Given the description of an element on the screen output the (x, y) to click on. 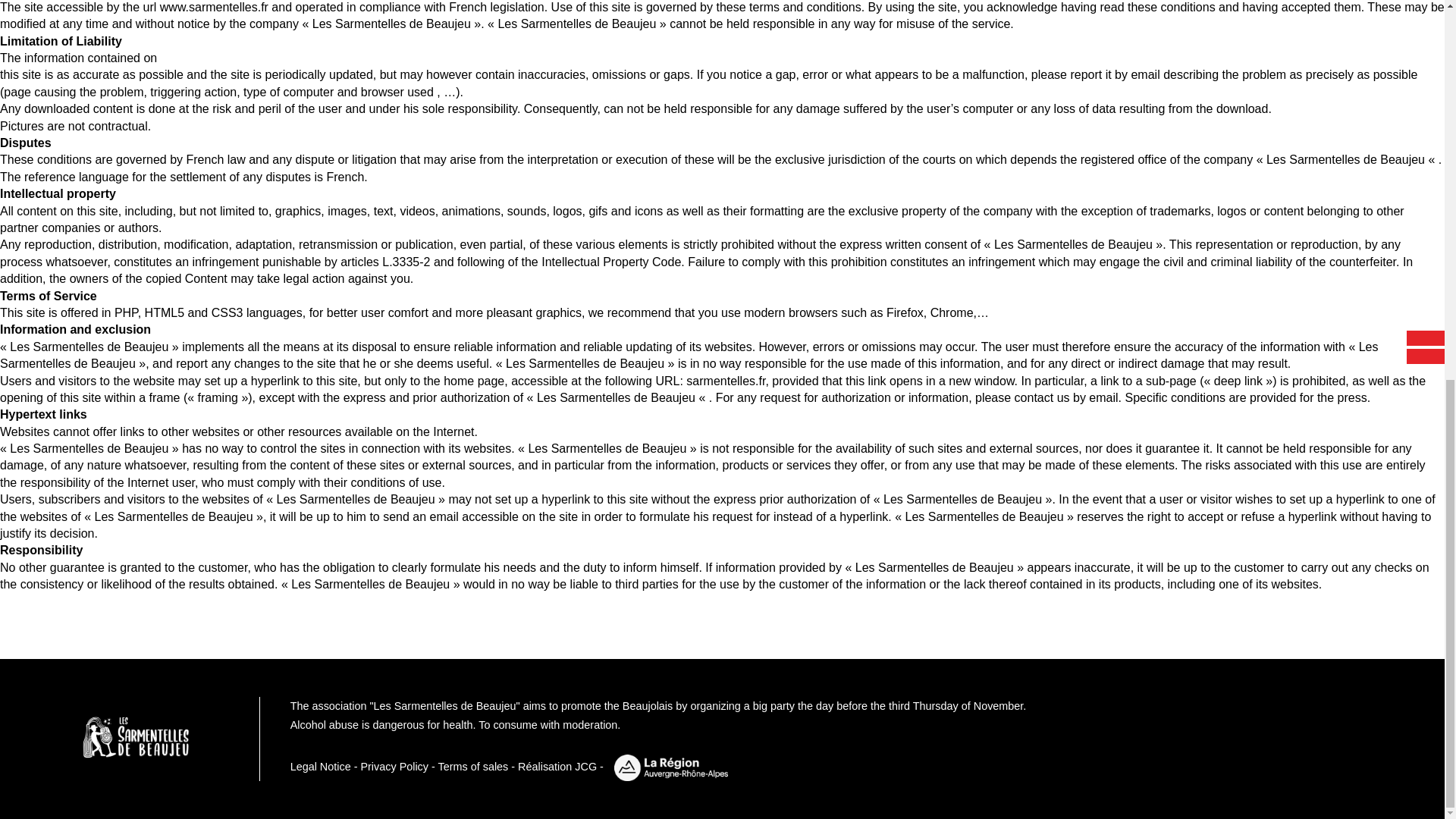
Terms of sales (473, 766)
Legal Notice (319, 766)
Privacy Policy (393, 766)
